Given the description of an element on the screen output the (x, y) to click on. 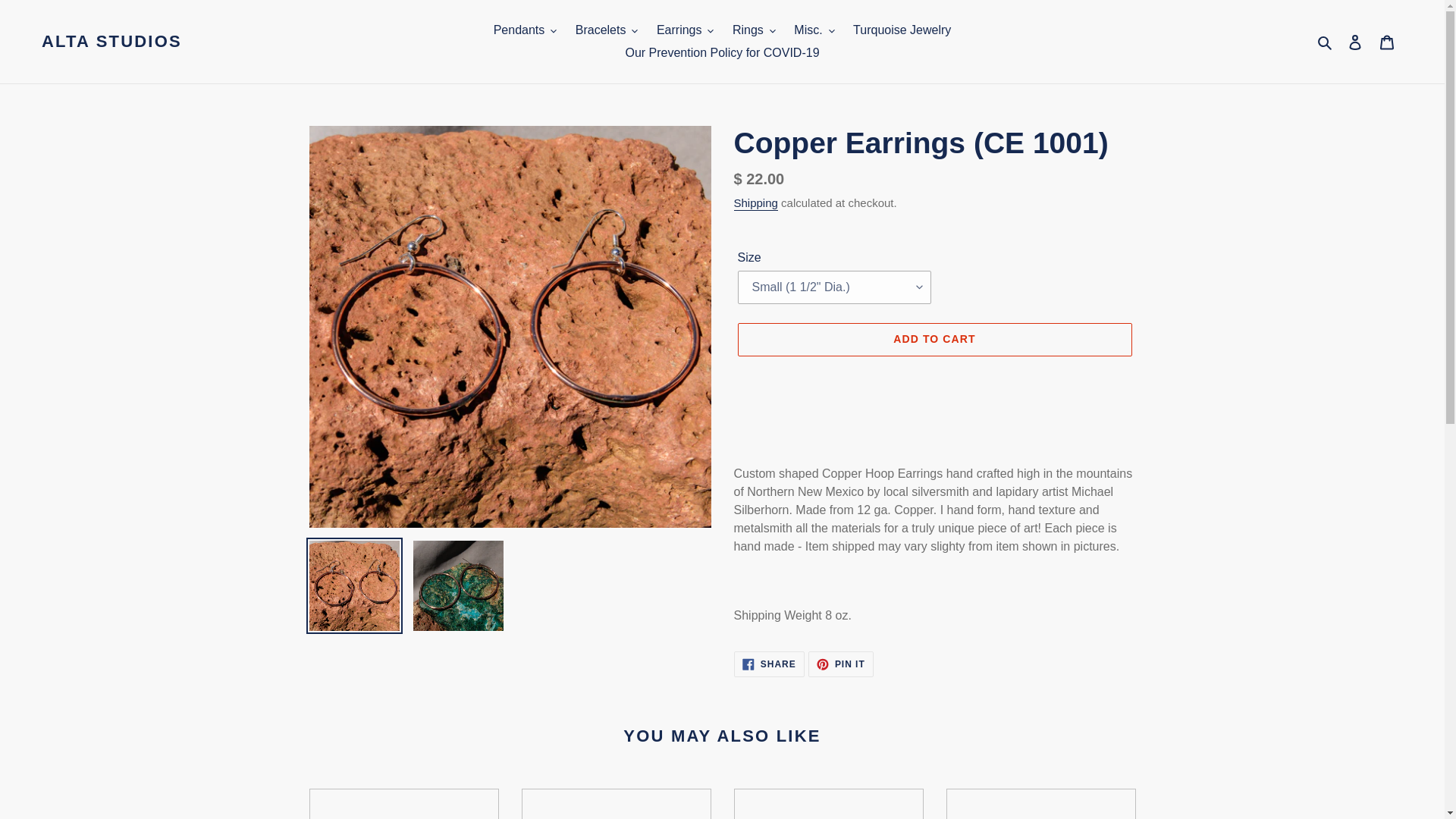
Bracelets (606, 29)
Pendants (525, 29)
Cart (1387, 41)
Our Prevention Policy for COVID-19 (722, 52)
Turquoise Jewelry (901, 29)
Misc. (813, 29)
Log in (1355, 41)
ALTA STUDIOS (112, 41)
Rings (754, 29)
Search (1326, 41)
Earrings (685, 29)
